Given the description of an element on the screen output the (x, y) to click on. 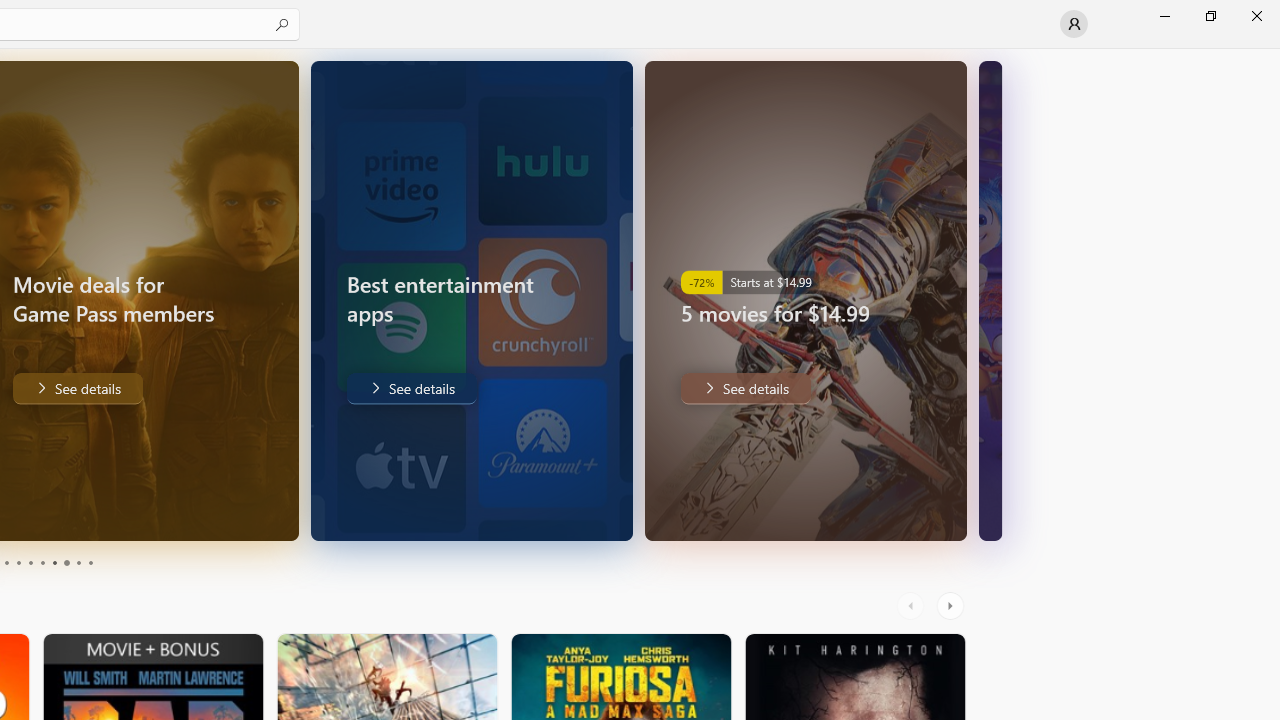
User profile (1073, 24)
AutomationID: LeftScrollButton (913, 606)
Page 8 (65, 562)
